Given the description of an element on the screen output the (x, y) to click on. 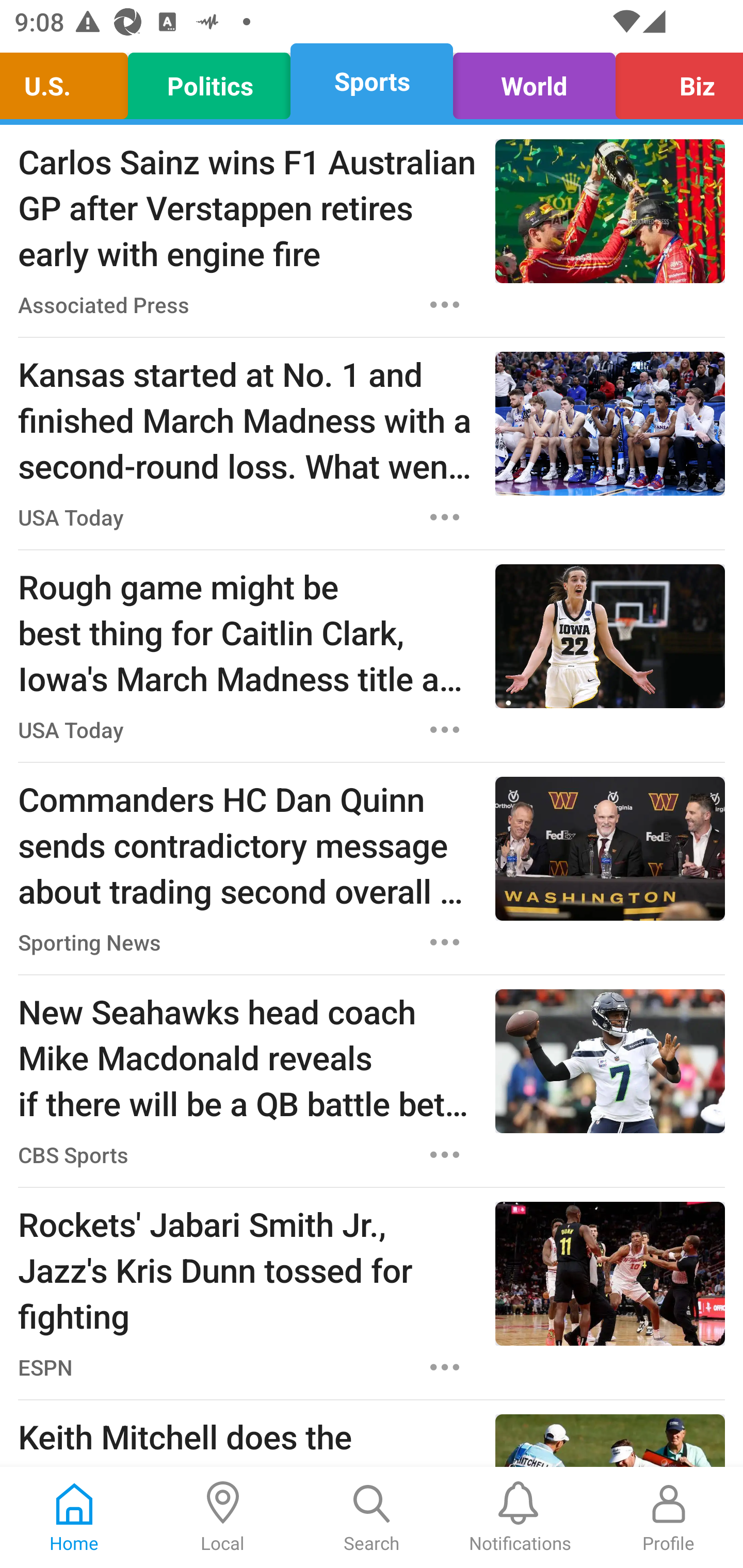
U.S. (69, 81)
Politics (209, 81)
Sports (371, 81)
World (534, 81)
Biz (673, 81)
Options (444, 304)
Options (444, 517)
Options (444, 729)
Options (444, 942)
Options (444, 1154)
Options (444, 1367)
Local (222, 1517)
Search (371, 1517)
Notifications (519, 1517)
Profile (668, 1517)
